Given the description of an element on the screen output the (x, y) to click on. 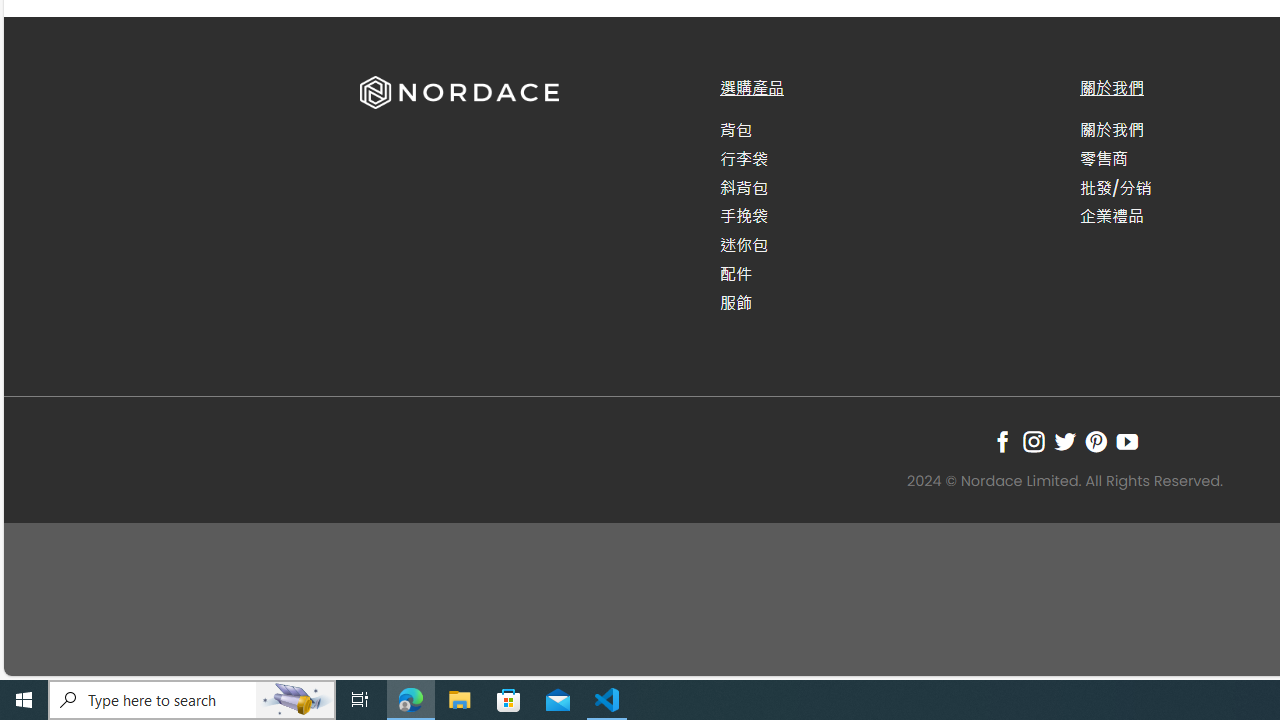
Follow on YouTube (1126, 441)
